Given the description of an element on the screen output the (x, y) to click on. 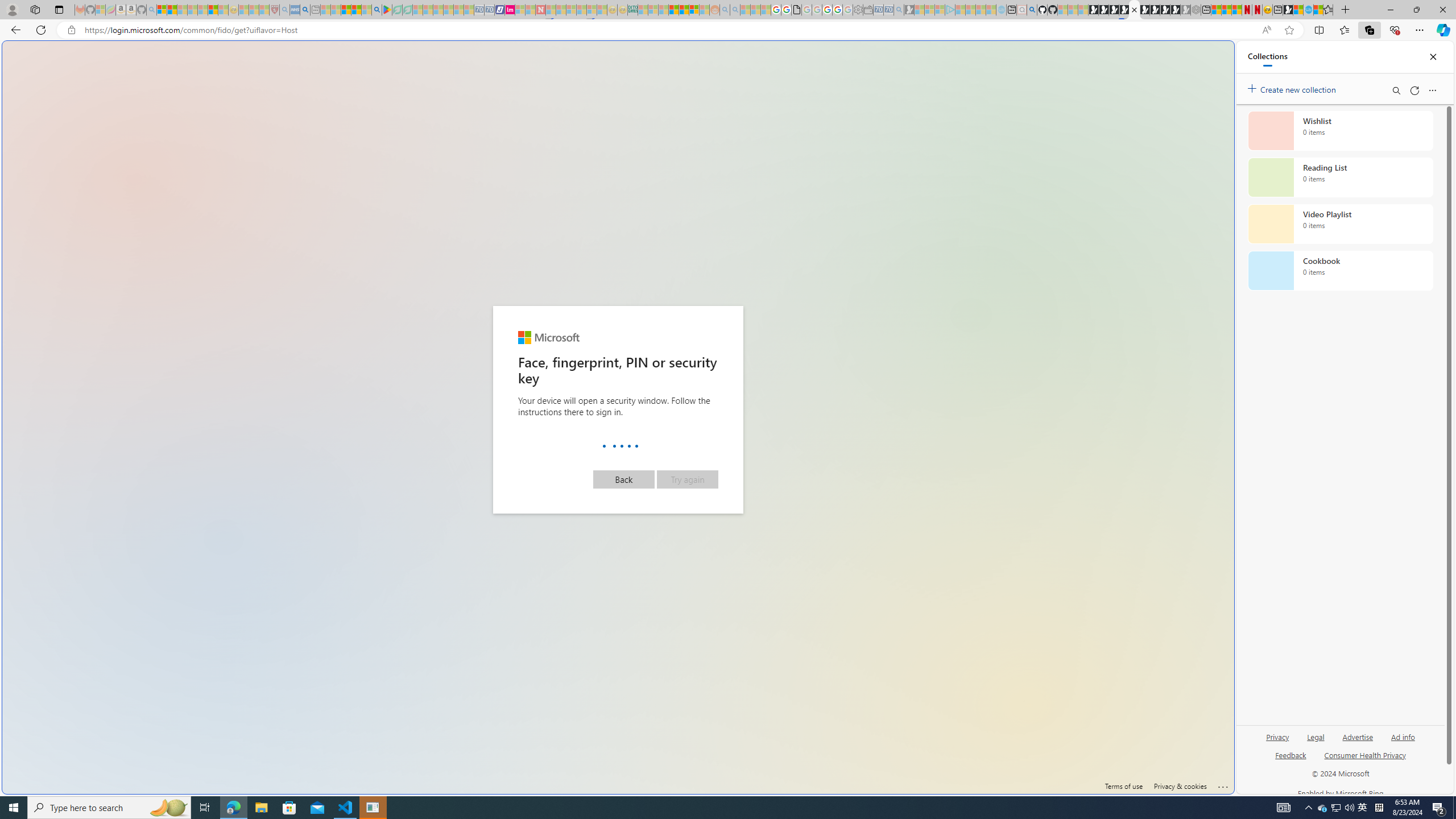
google_privacy_policy_zh-CN.pdf (1118, 683)
World - MSN (1297, 9)
google - Search (376, 9)
New Report Confirms 2023 Was Record Hot | Watch - Sleeping (202, 9)
Bluey: Let's Play! - Apps on Google Play (387, 9)
Local - MSN - Sleeping (263, 9)
Ad info (1402, 736)
